Given the description of an element on the screen output the (x, y) to click on. 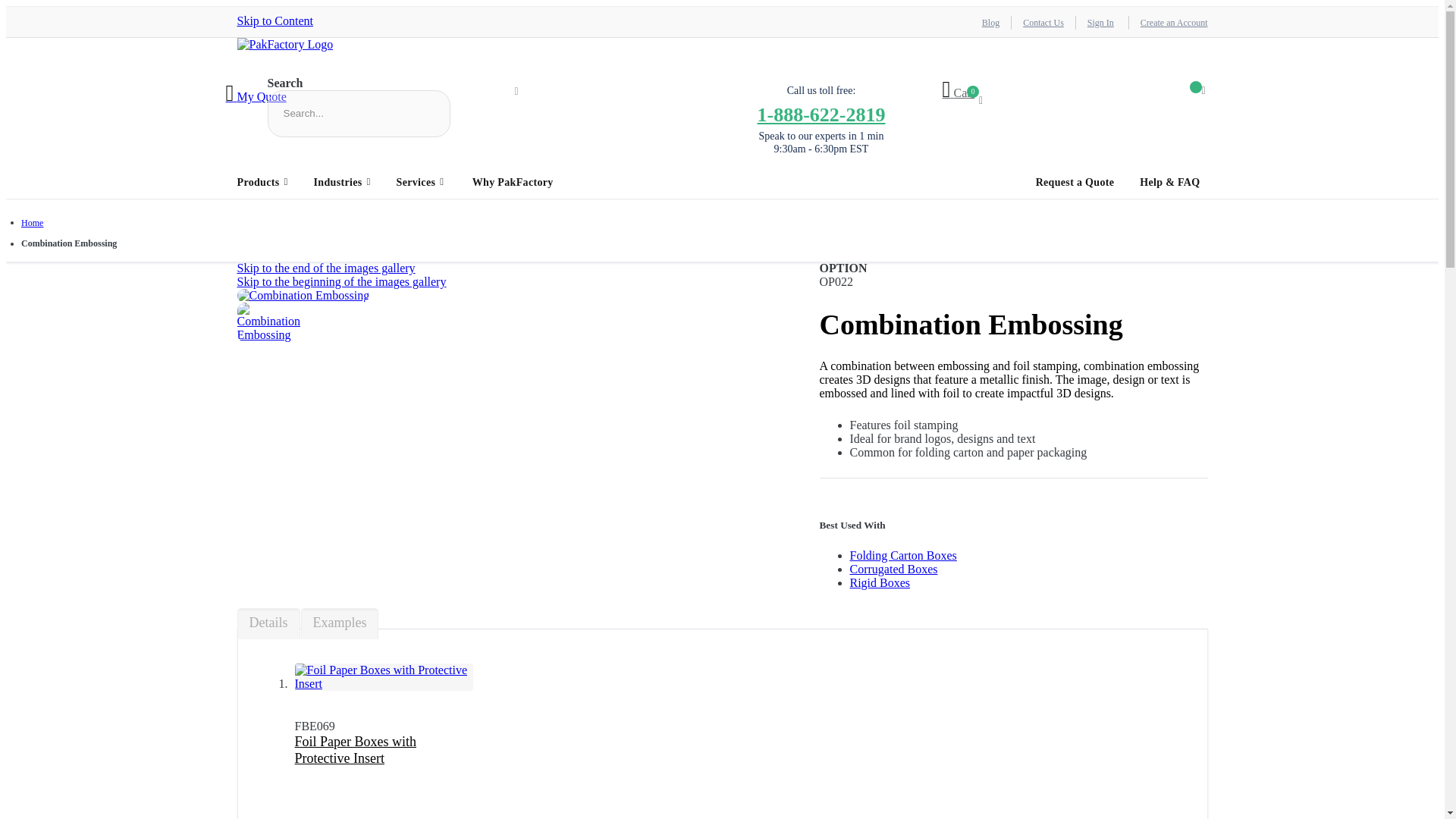
Industries (342, 182)
Search (515, 91)
Contact Us (1042, 22)
Search (515, 91)
My Quote (255, 96)
Combination Embossing (302, 295)
1-888-622-2819 (821, 114)
Combination Embossing (268, 334)
Services (419, 182)
Products (266, 182)
